Given the description of an element on the screen output the (x, y) to click on. 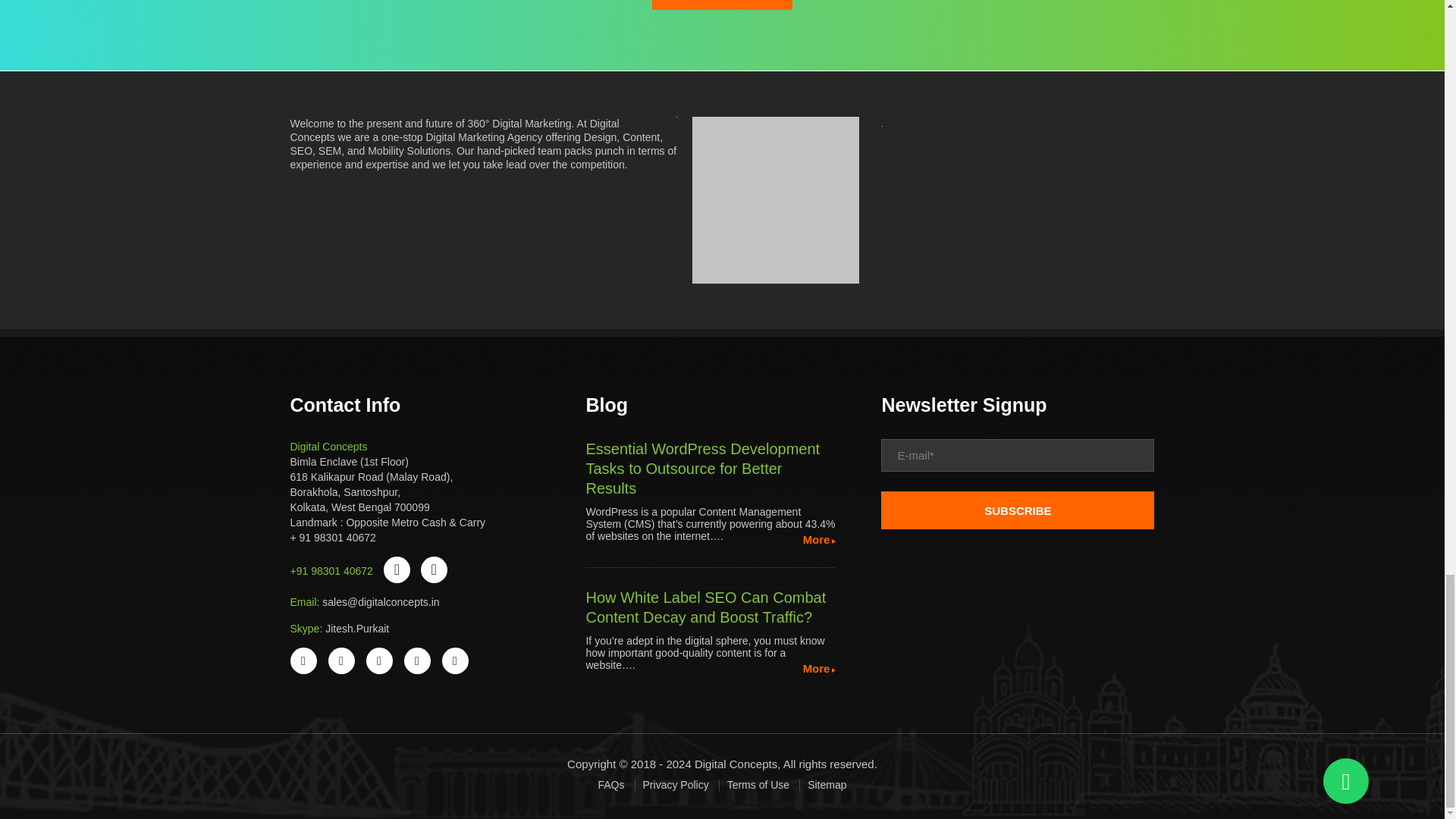
Subscribe (1017, 510)
 Company (775, 200)
